Given the description of an element on the screen output the (x, y) to click on. 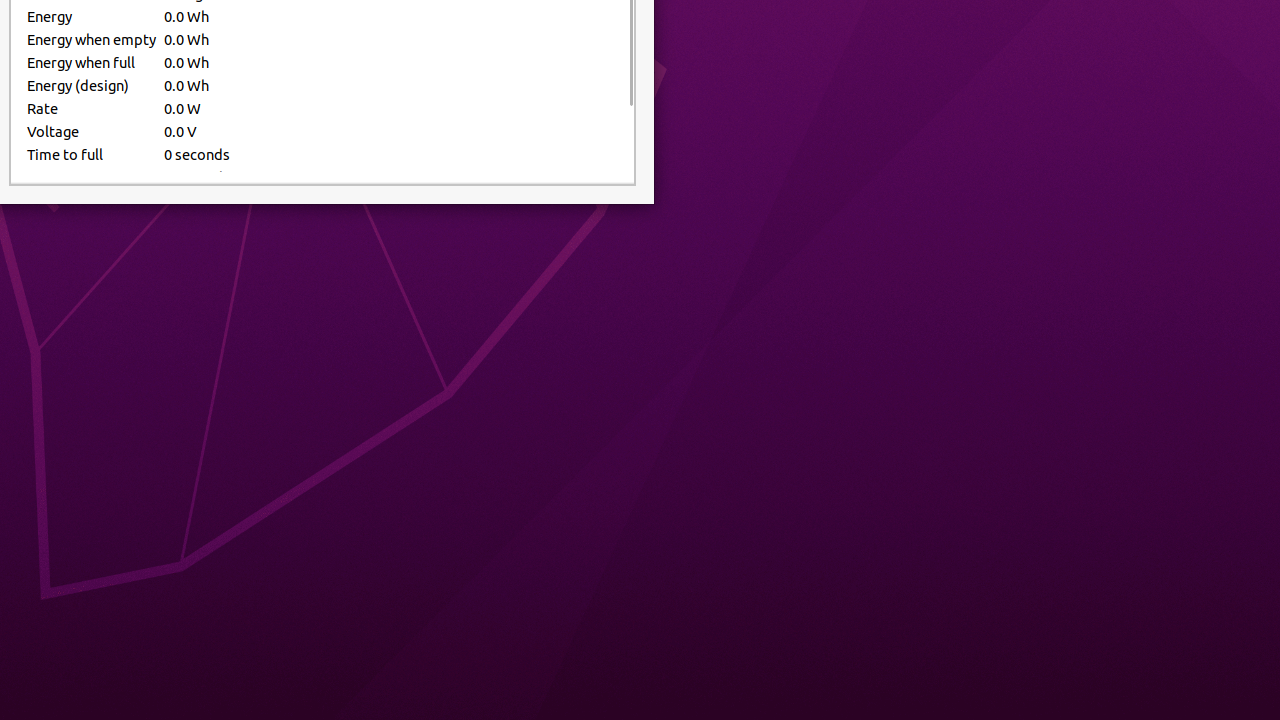
0.0 Wh Element type: table-cell (391, 16)
Time to empty Element type: table-cell (91, 177)
Voltage Element type: table-cell (91, 131)
0.0 W Element type: table-cell (391, 108)
Energy Element type: table-cell (91, 16)
